Given the description of an element on the screen output the (x, y) to click on. 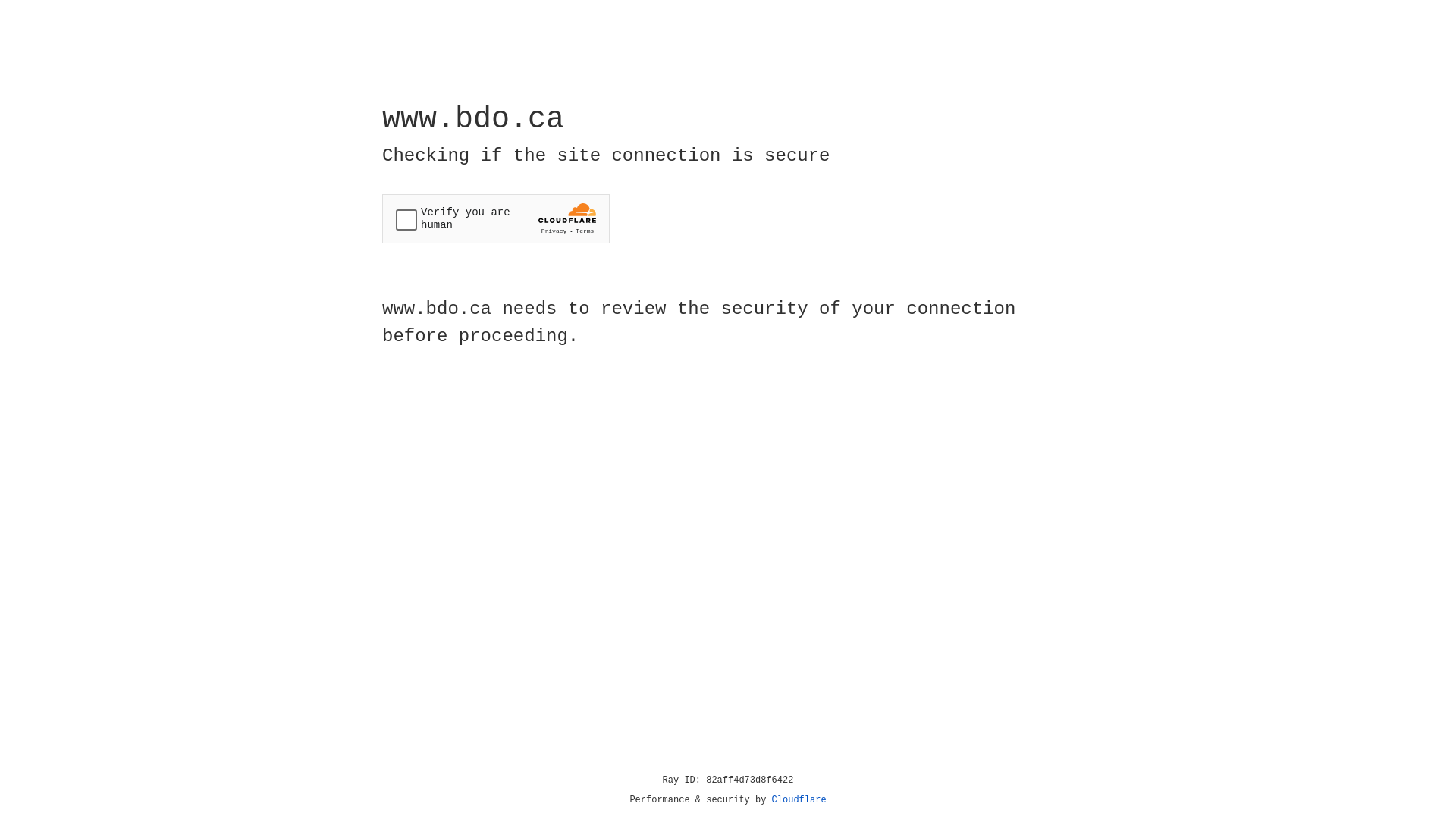
Cloudflare Element type: text (798, 799)
Widget containing a Cloudflare security challenge Element type: hover (495, 218)
